Given the description of an element on the screen output the (x, y) to click on. 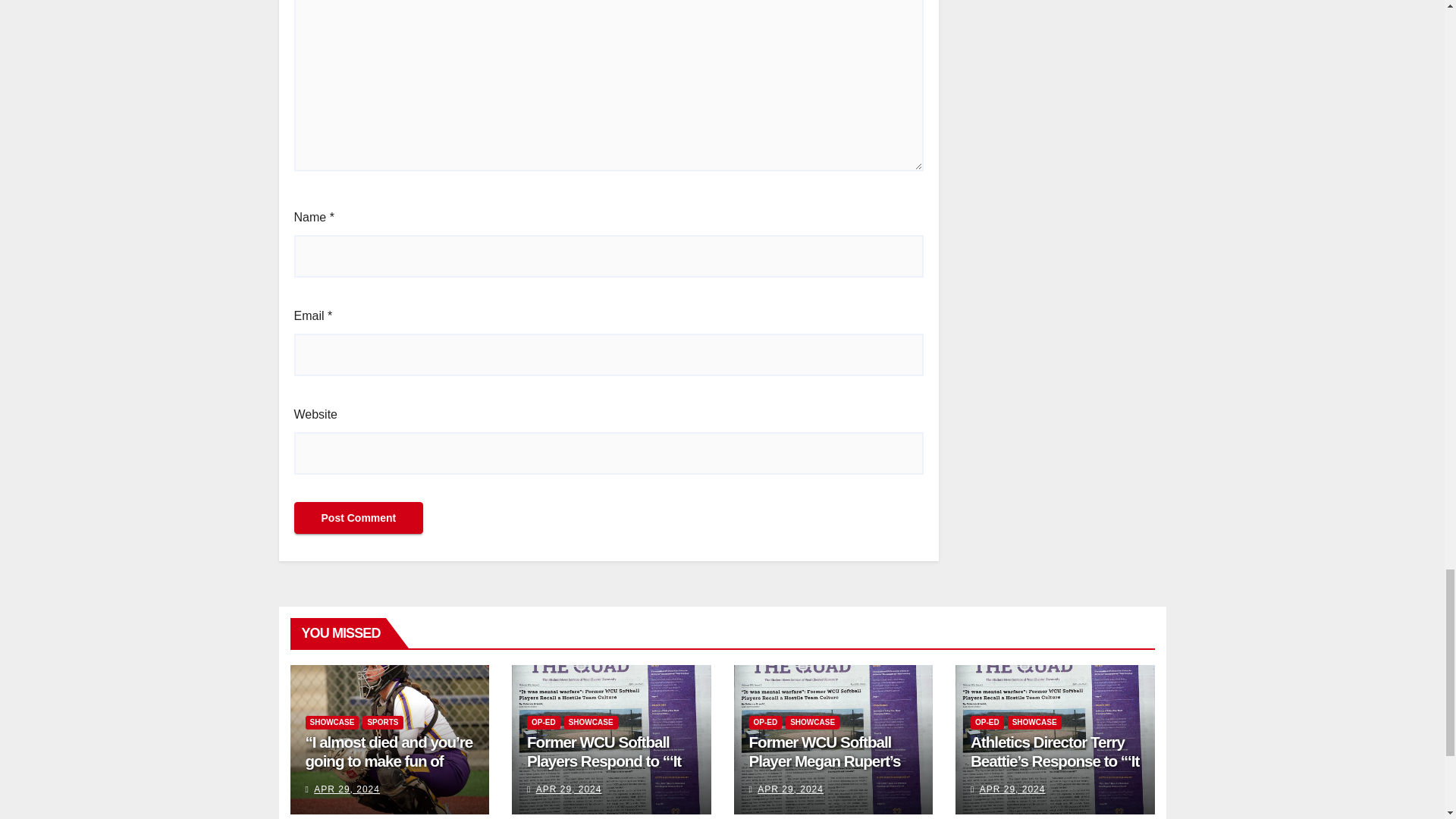
Post Comment (358, 517)
